Given the description of an element on the screen output the (x, y) to click on. 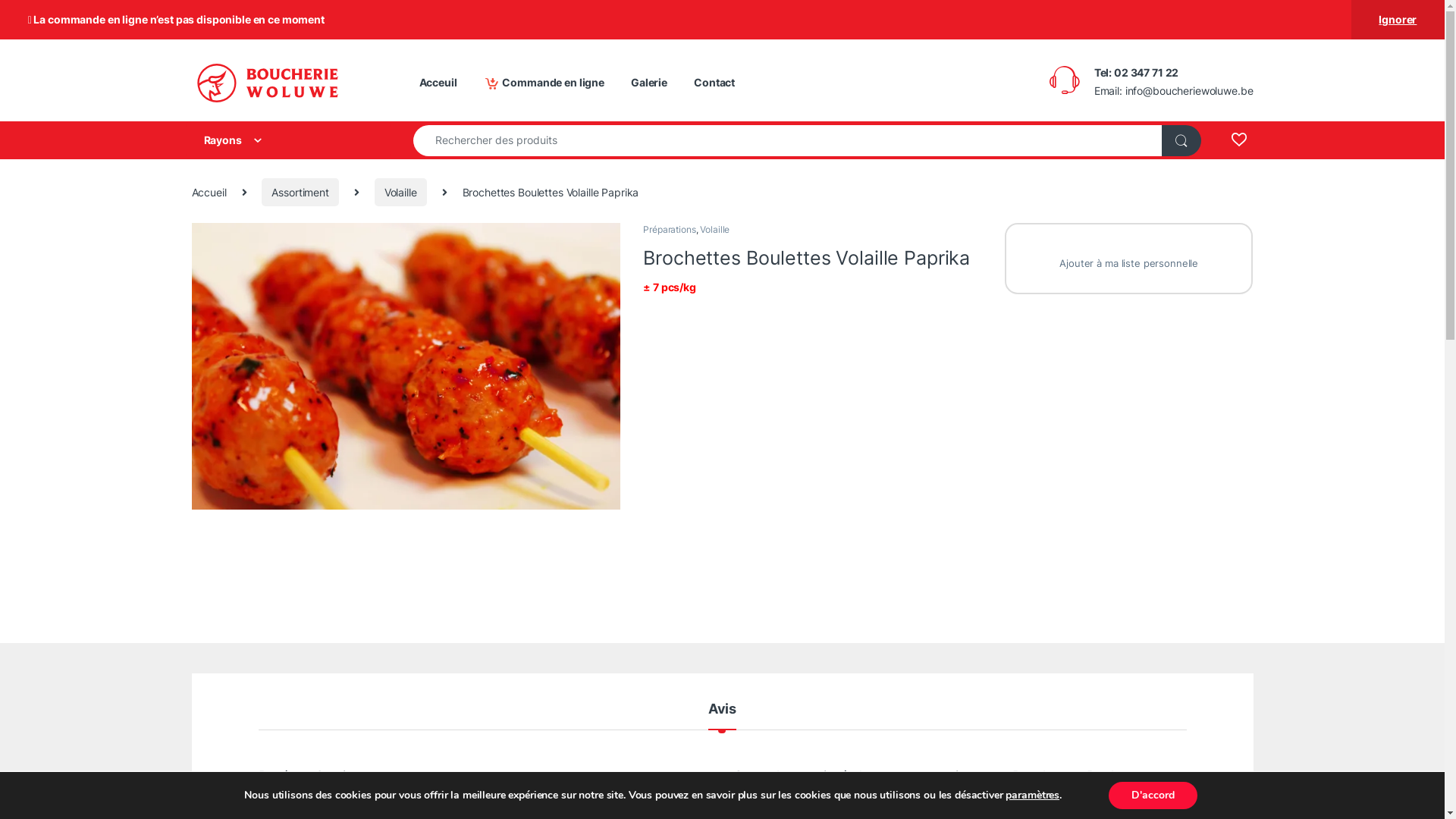
Galerie Element type: text (648, 82)
Volaille Element type: text (400, 192)
Commande en ligne Element type: text (544, 82)
Rayons Element type: text (287, 140)
Contact Element type: text (713, 82)
Volaille Element type: text (714, 229)
Brochettes de volaille au paprika Element type: hover (405, 365)
Avis Element type: text (722, 715)
Ignorer Element type: text (1397, 19)
Acceuil Element type: text (437, 82)
D'accord Element type: text (1152, 795)
Accueil Element type: text (208, 191)
Assortiment Element type: text (299, 192)
